Given the description of an element on the screen output the (x, y) to click on. 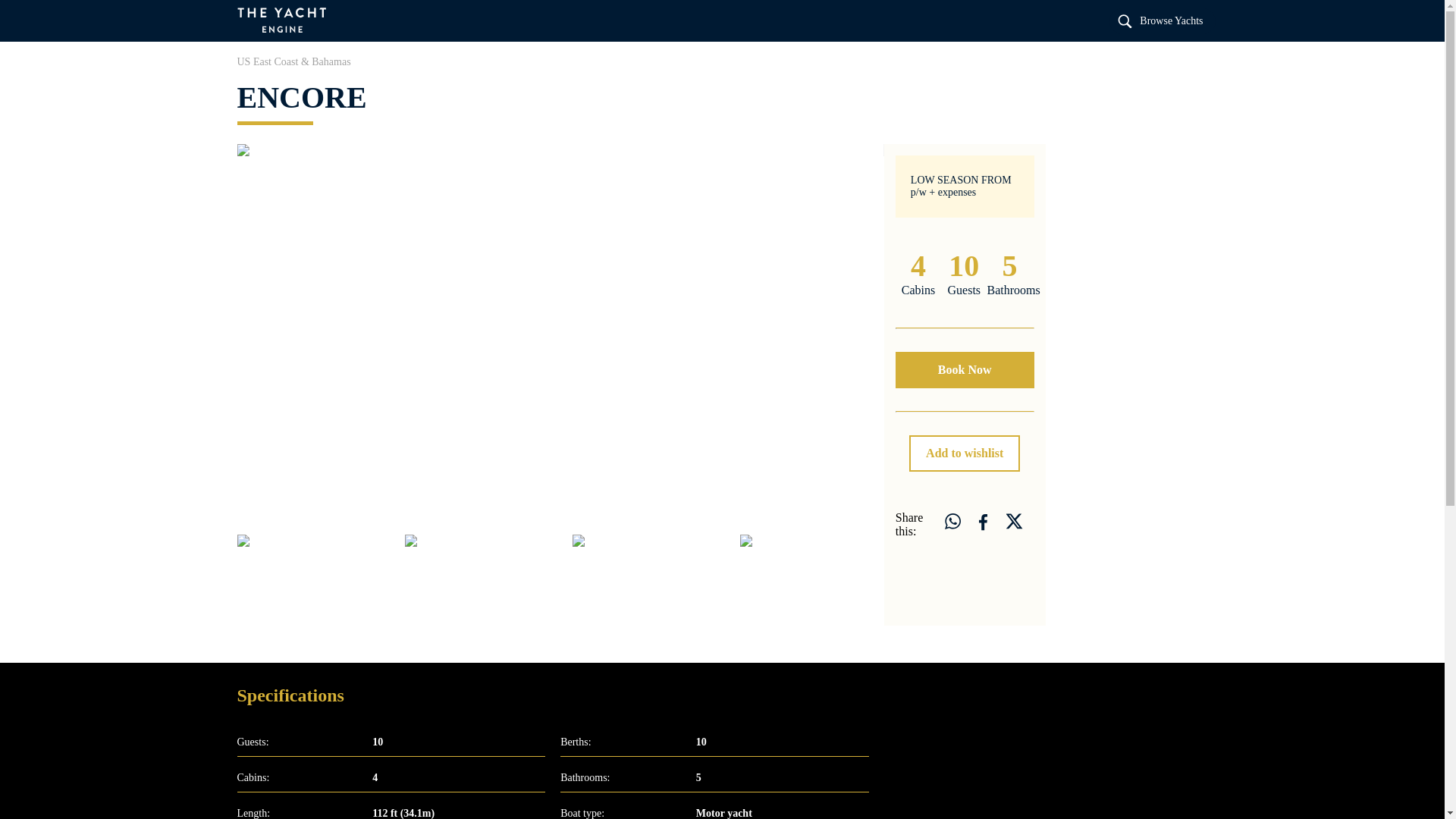
 The Yacht Engine (313, 579)
Book Now (964, 370)
The Yacht Engine (282, 20)
Browse Yachts (1161, 20)
Browse Yachts (1161, 20)
Add to wishlist (964, 452)
